Given the description of an element on the screen output the (x, y) to click on. 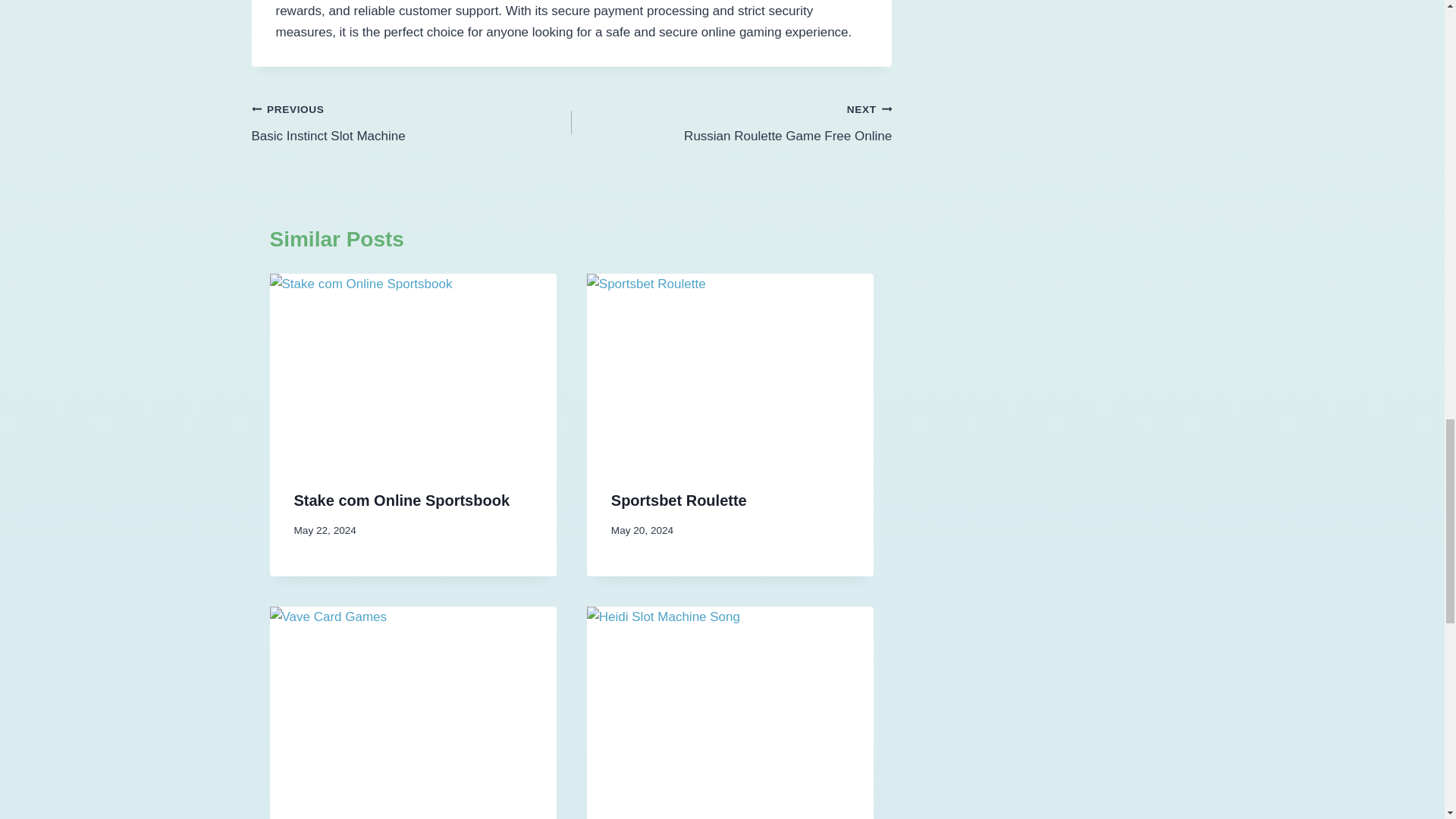
Stake com Online Sportsbook (731, 122)
Sportsbet Roulette (411, 122)
